Given the description of an element on the screen output the (x, y) to click on. 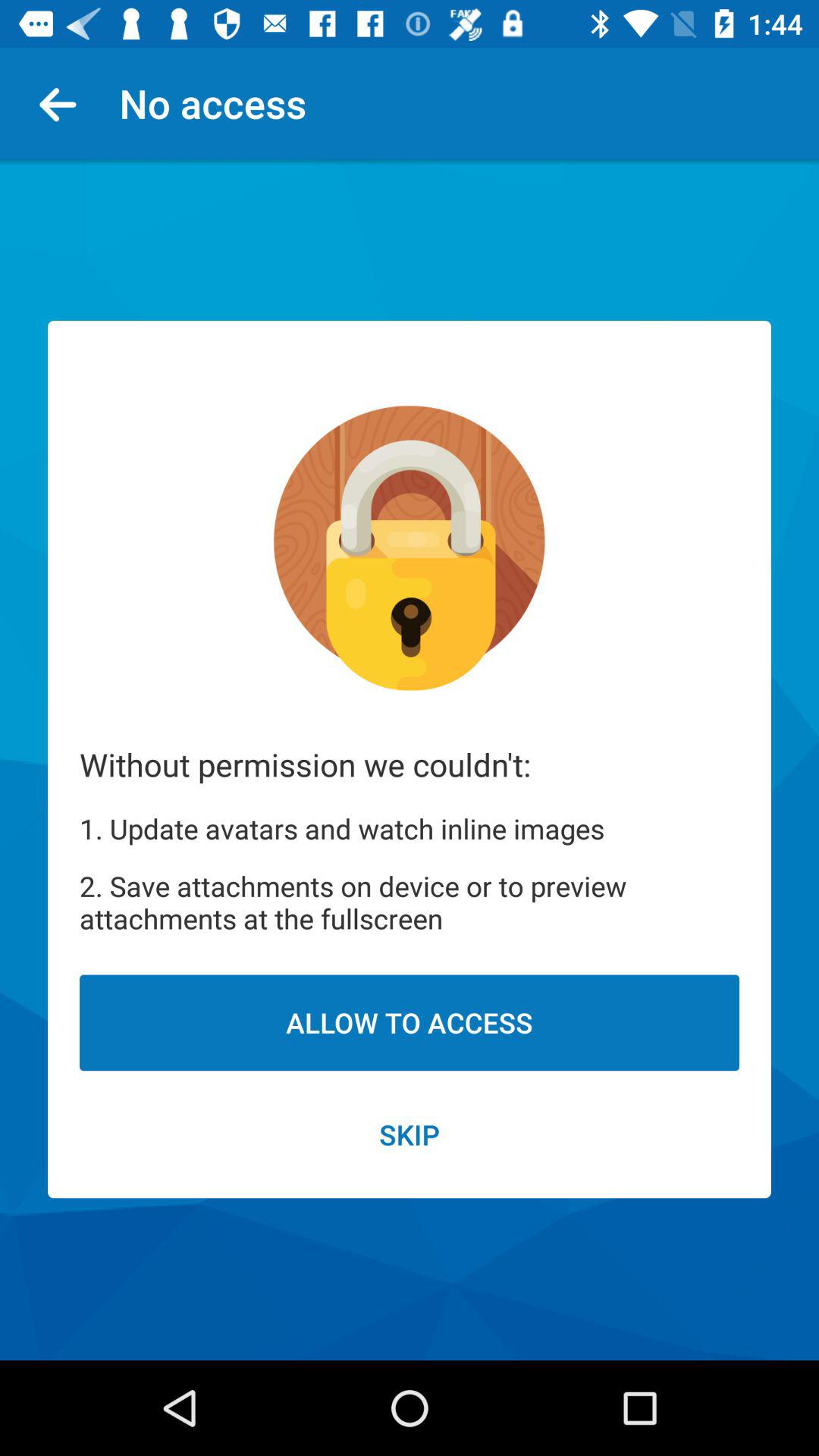
turn off the item below 2 save attachments (409, 1022)
